Given the description of an element on the screen output the (x, y) to click on. 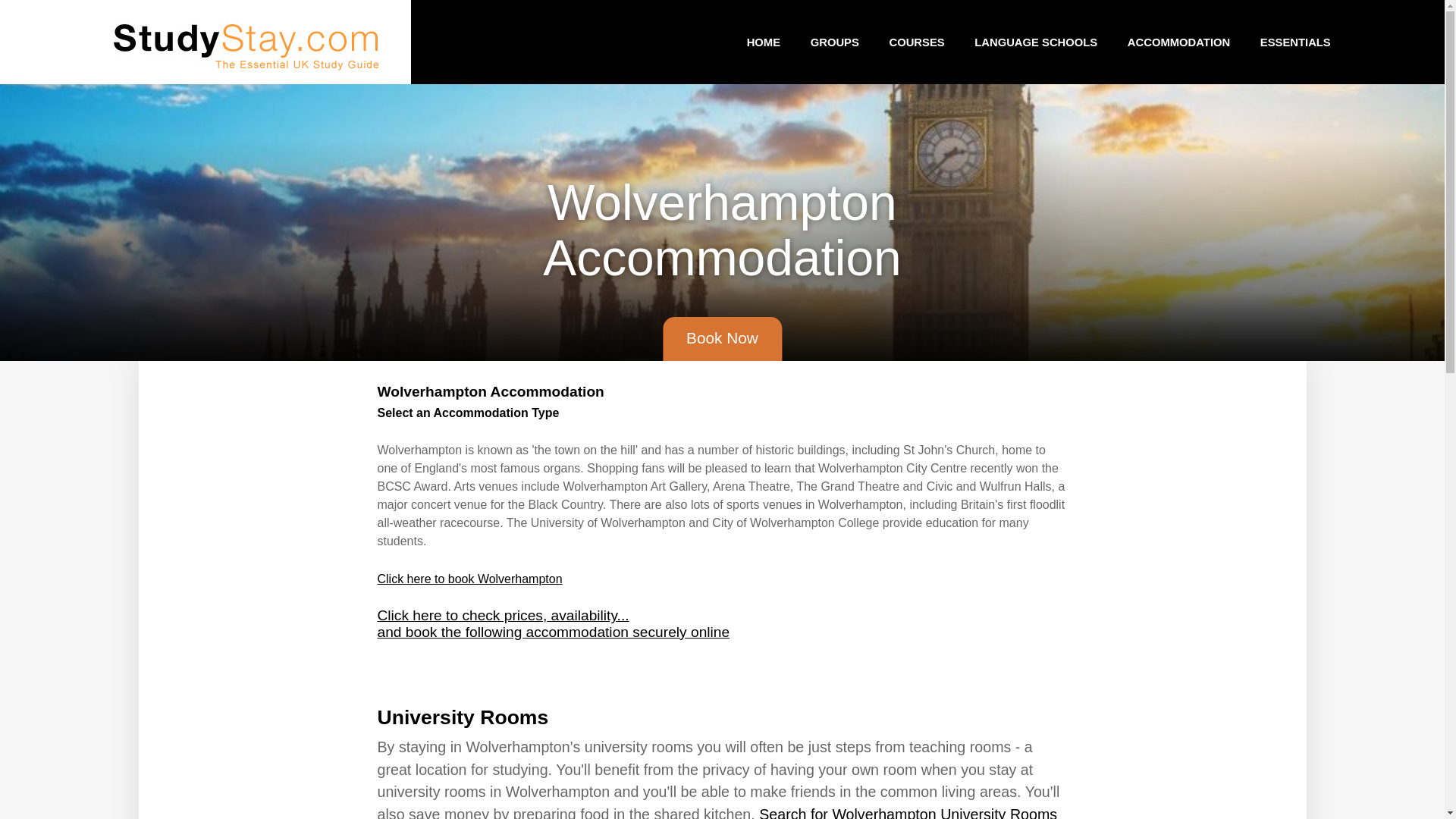
ESSENTIALS (1294, 41)
Home (763, 41)
HOME (763, 41)
Click here to book Wolverhampton (469, 578)
StudyStay (245, 41)
Accommodation (1178, 41)
Language Schools (1035, 41)
GROUPS (834, 41)
Essentials (1294, 41)
Click here to check prices, availability... (502, 615)
